Given the description of an element on the screen output the (x, y) to click on. 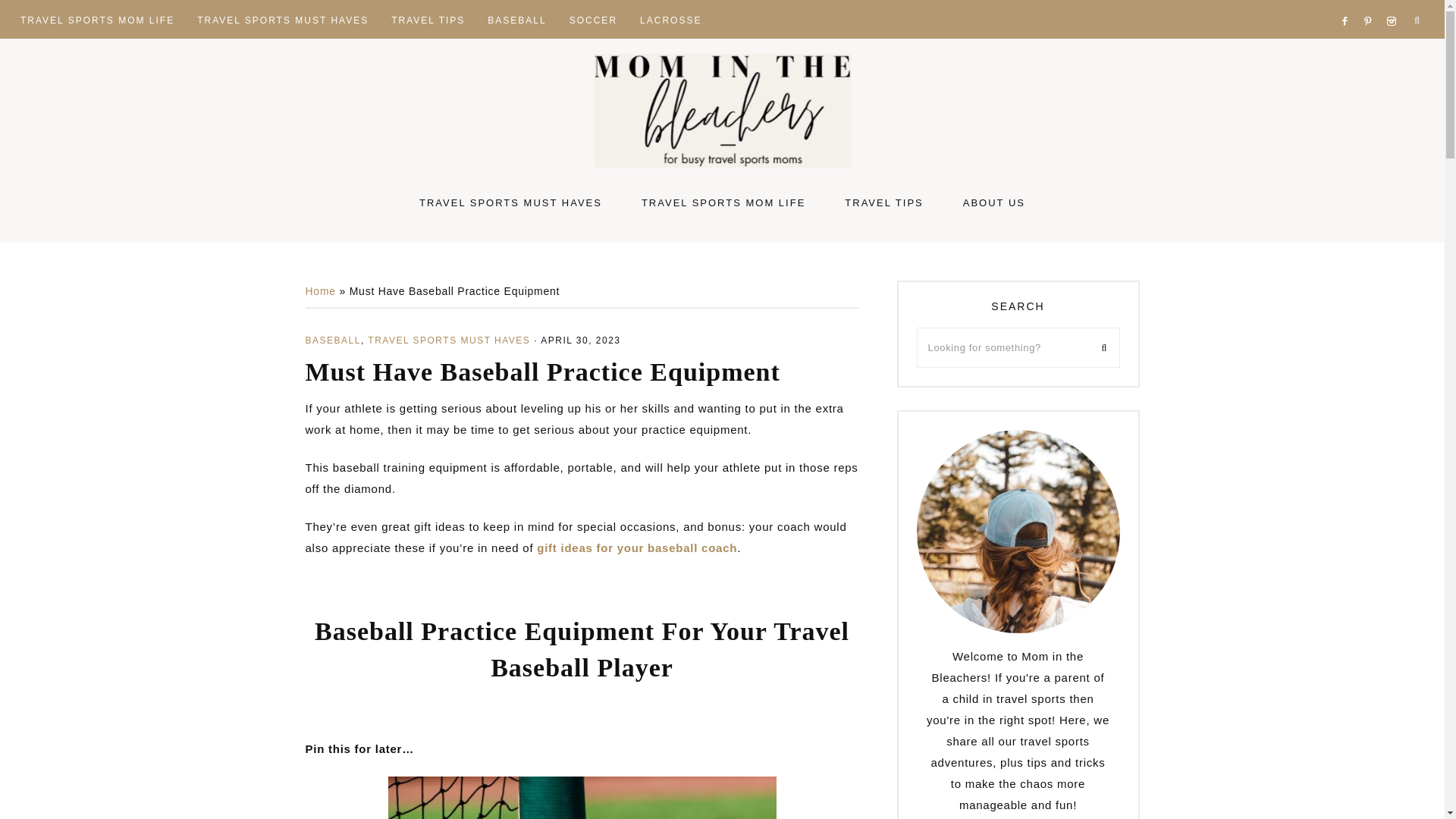
Facebook (1348, 3)
TRAVEL TIPS (428, 18)
Mom in the Bleachers (721, 110)
TRAVEL SPORTS MUST HAVES (283, 18)
ABOUT US (994, 202)
BASEBALL (516, 18)
Instagram (1393, 3)
LACROSSE (670, 18)
SOCCER (592, 18)
TRAVEL SPORTS MOM LIFE (97, 18)
TRAVEL SPORTS MUST HAVES (509, 202)
Pinterest (1371, 3)
TRAVEL TIPS (883, 202)
TRAVEL SPORTS MOM LIFE (723, 202)
